Given the description of an element on the screen output the (x, y) to click on. 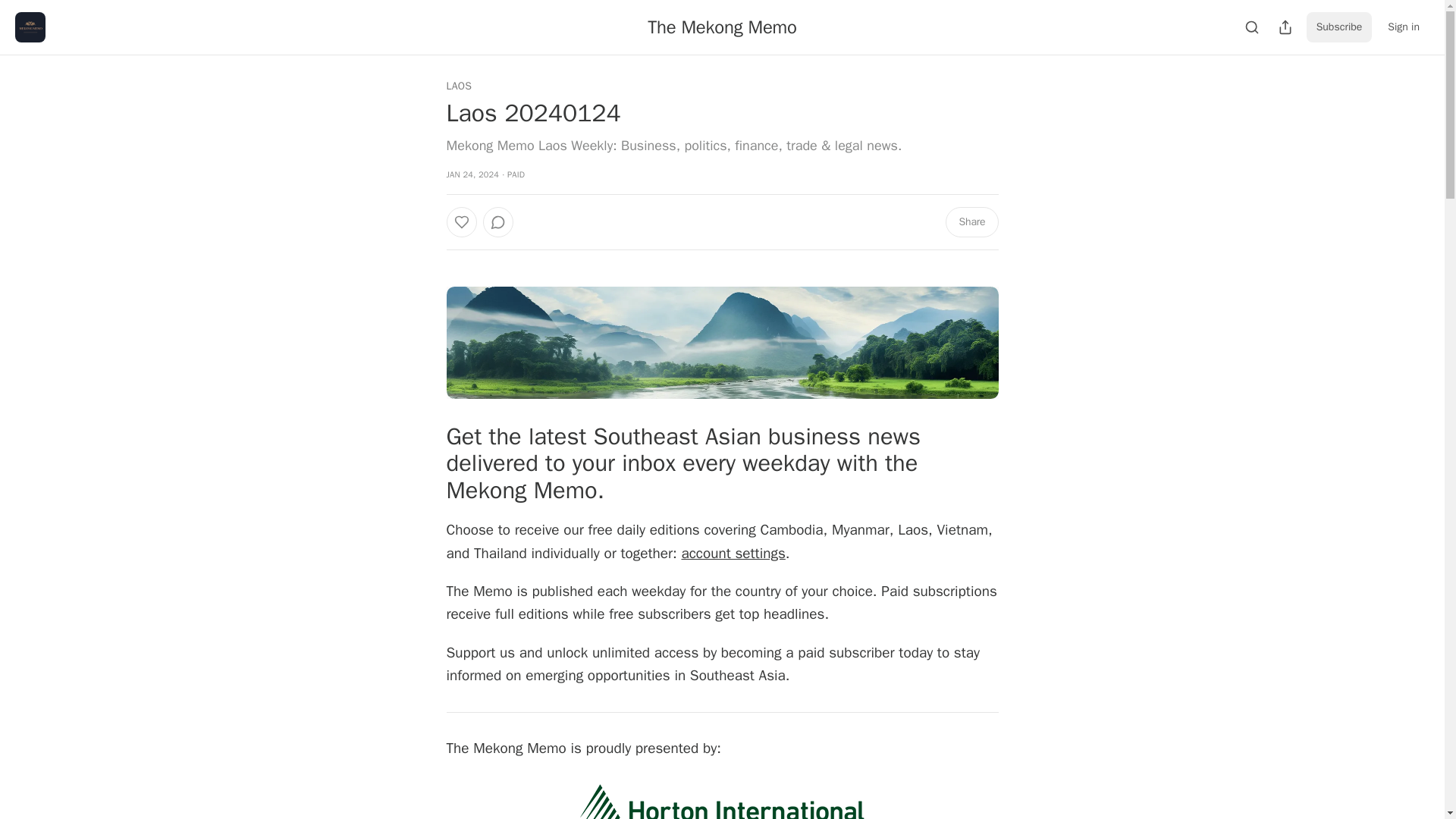
The Mekong Memo (721, 26)
Subscribe (1339, 27)
Sign in (1403, 27)
Share (970, 222)
account settings (732, 553)
LAOS (458, 86)
